Given the description of an element on the screen output the (x, y) to click on. 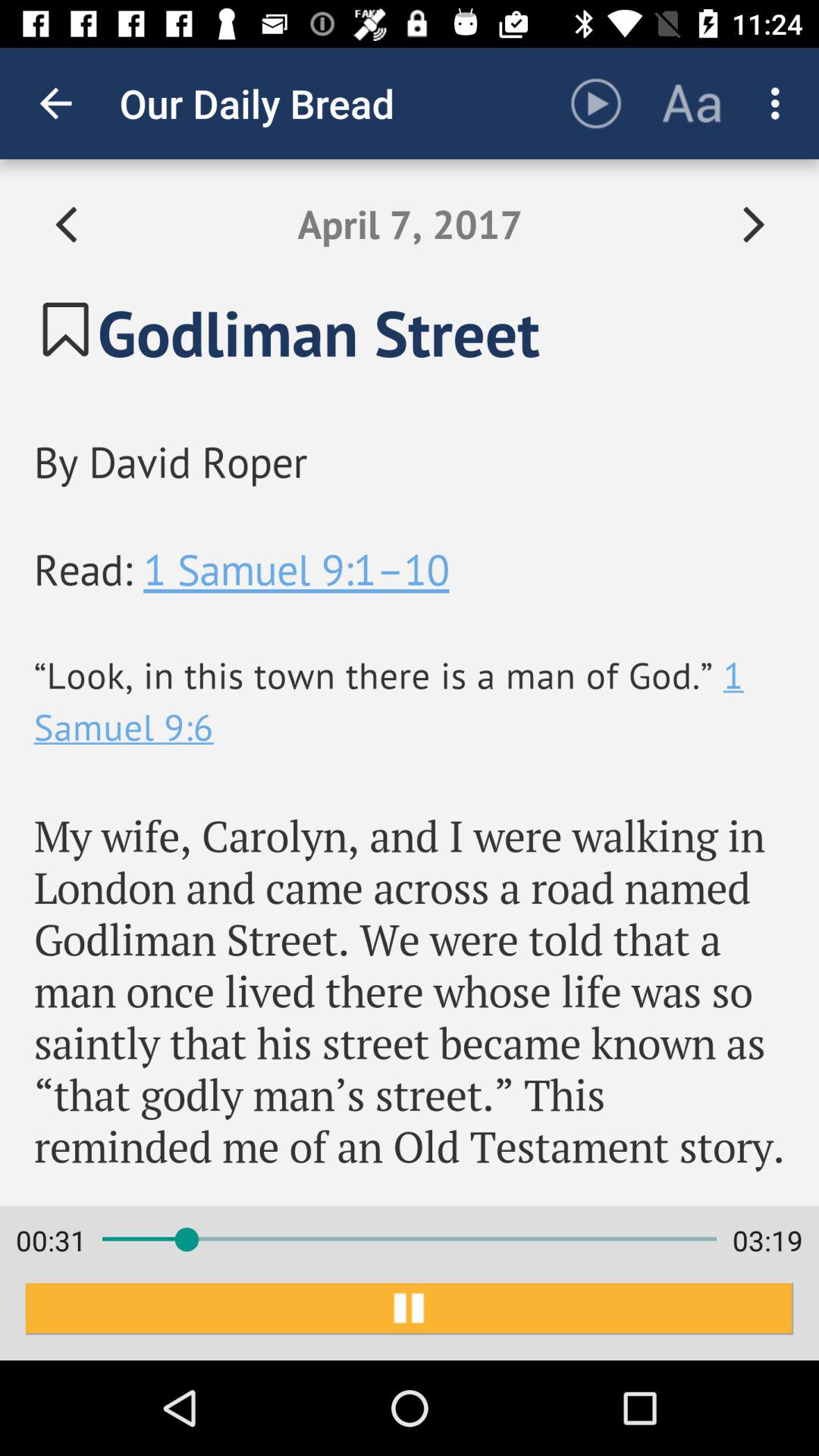
turn on icon to the left of our daily bread item (55, 103)
